Given the description of an element on the screen output the (x, y) to click on. 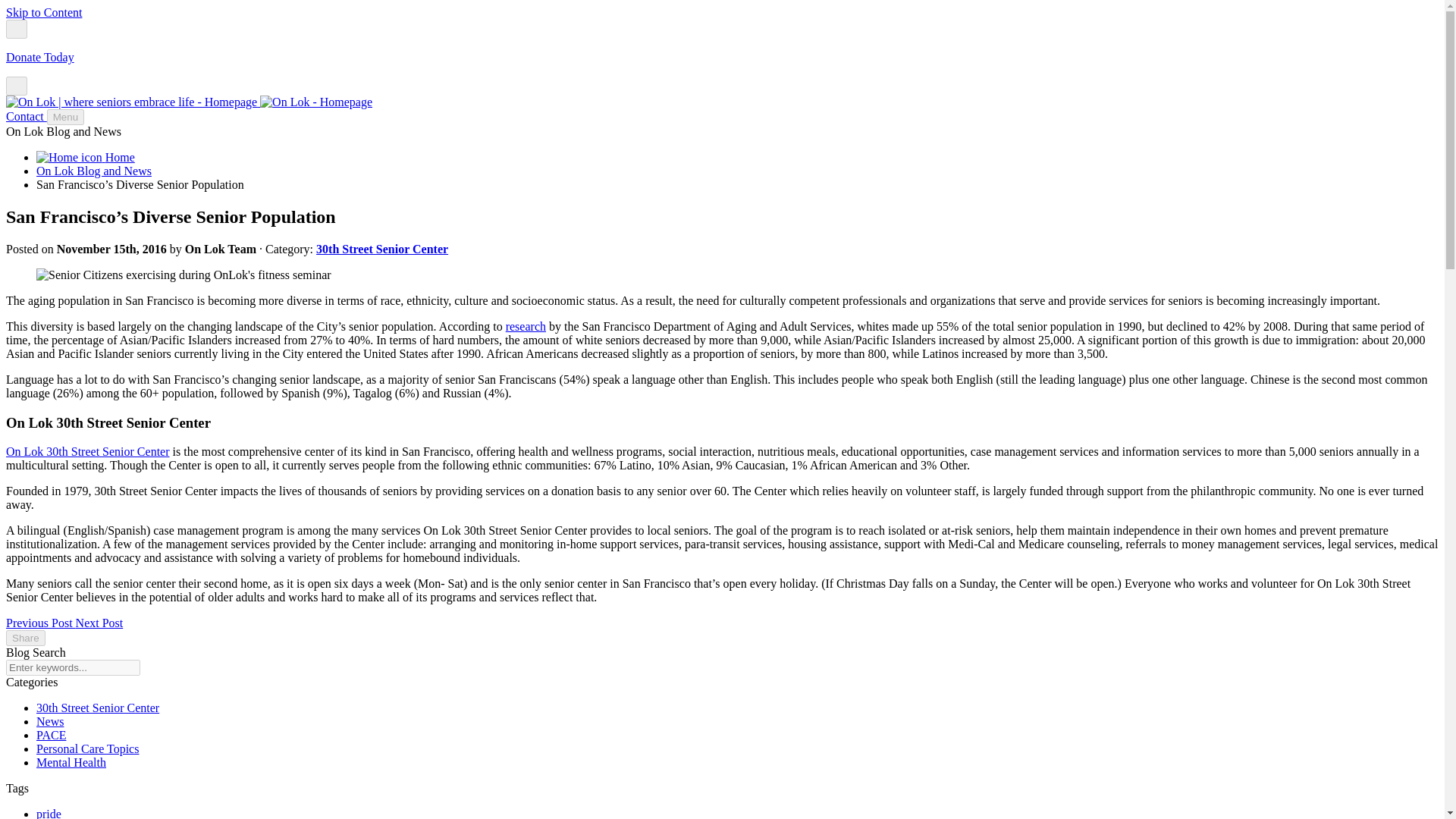
Previous Post (40, 622)
30th Street Senior Center (97, 707)
Menu (65, 116)
Personal Care Topics (87, 748)
News (50, 721)
Next Post (99, 622)
Donate Today (39, 56)
On Lok 30th Street Senior Center (87, 451)
On Lok Blog and News (93, 170)
PACE (50, 735)
pride (48, 813)
research (525, 326)
Contact (25, 115)
Share (25, 637)
Skip to Content (43, 11)
